Given the description of an element on the screen output the (x, y) to click on. 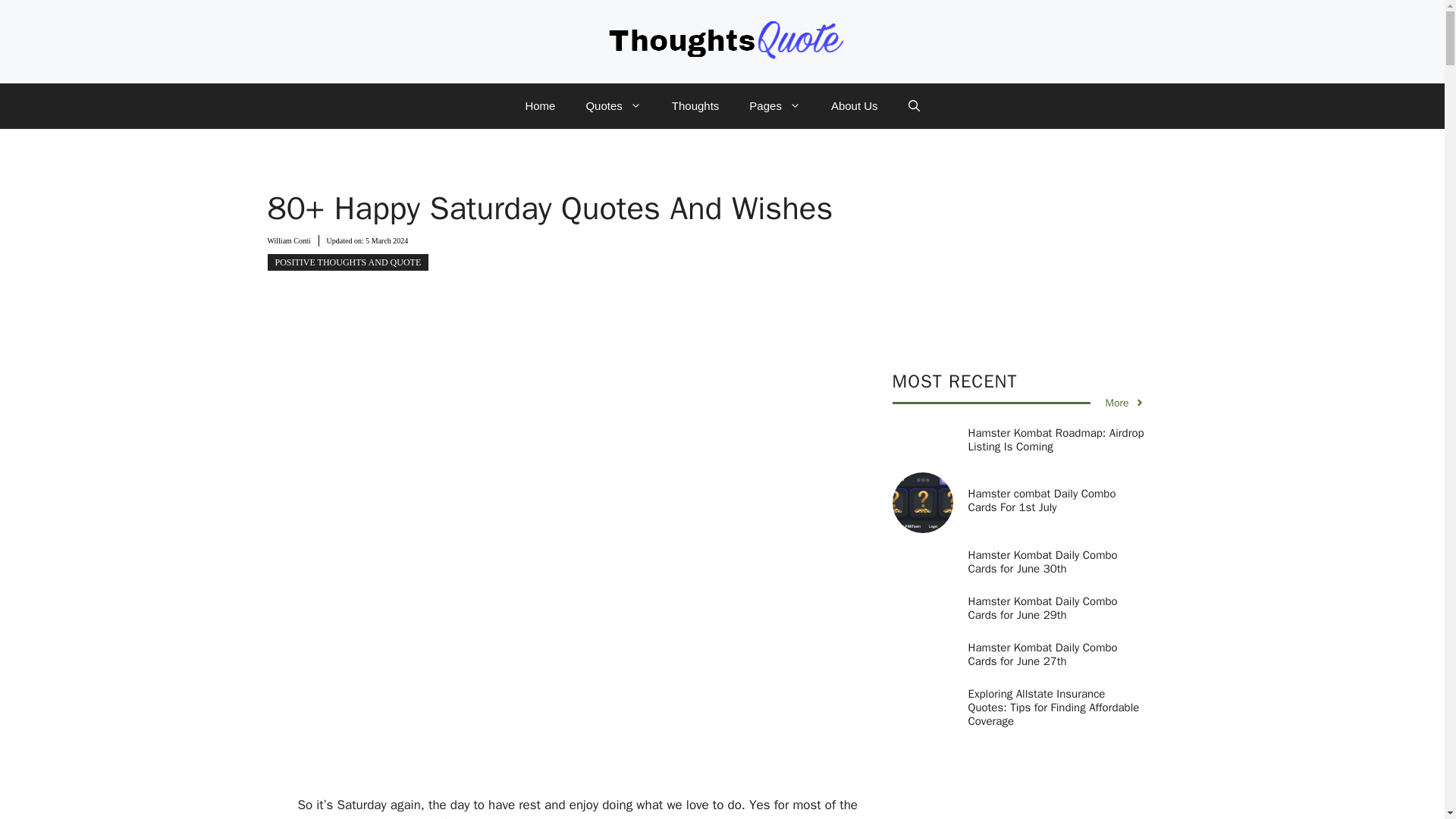
Hamster Kombat Daily Combo Cards for June 29th (1042, 607)
William Conti (288, 240)
POSITIVE THOUGHTS AND QUOTE (347, 262)
Hamster Kombat Roadmap: Airdrop Listing Is Coming (1055, 439)
Thoughts (695, 105)
Home (539, 105)
Quotes (613, 105)
Advertisement (600, 683)
About Us (854, 105)
